Given the description of an element on the screen output the (x, y) to click on. 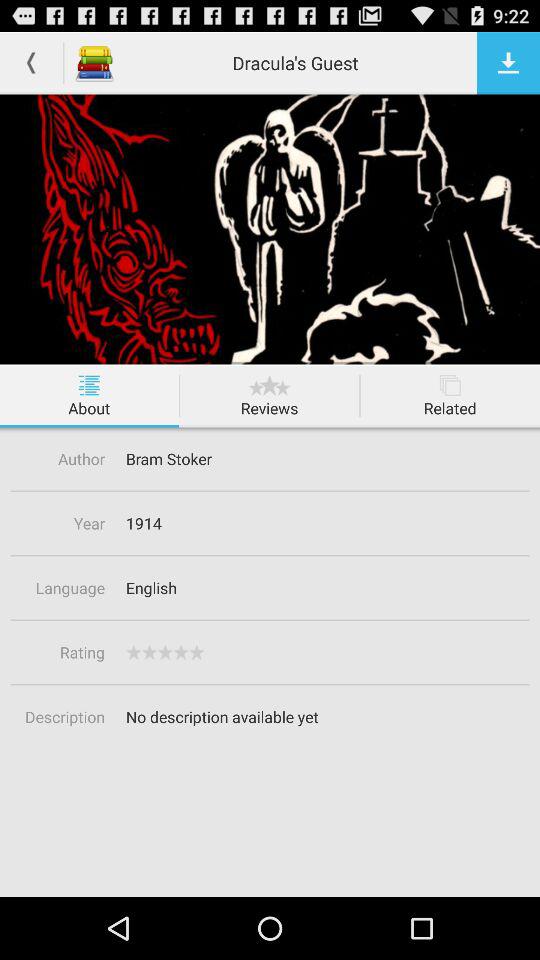
download icon (508, 62)
